Given the description of an element on the screen output the (x, y) to click on. 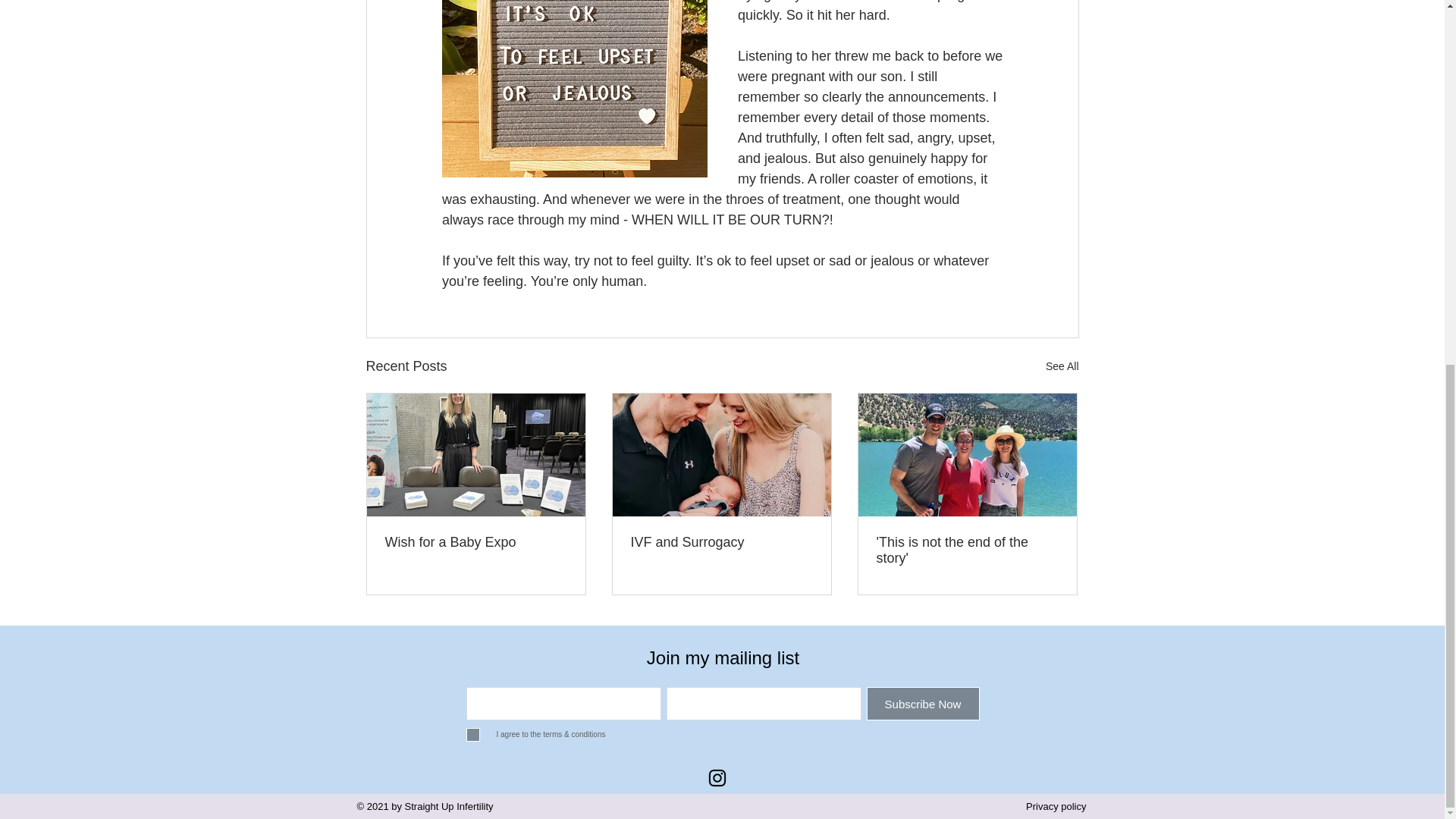
IVF and Surrogacy (721, 542)
Subscribe Now (922, 703)
Privacy policy (1056, 806)
See All (1061, 366)
'This is not the end of the story' (967, 550)
Wish for a Baby Expo (476, 542)
